Given the description of an element on the screen output the (x, y) to click on. 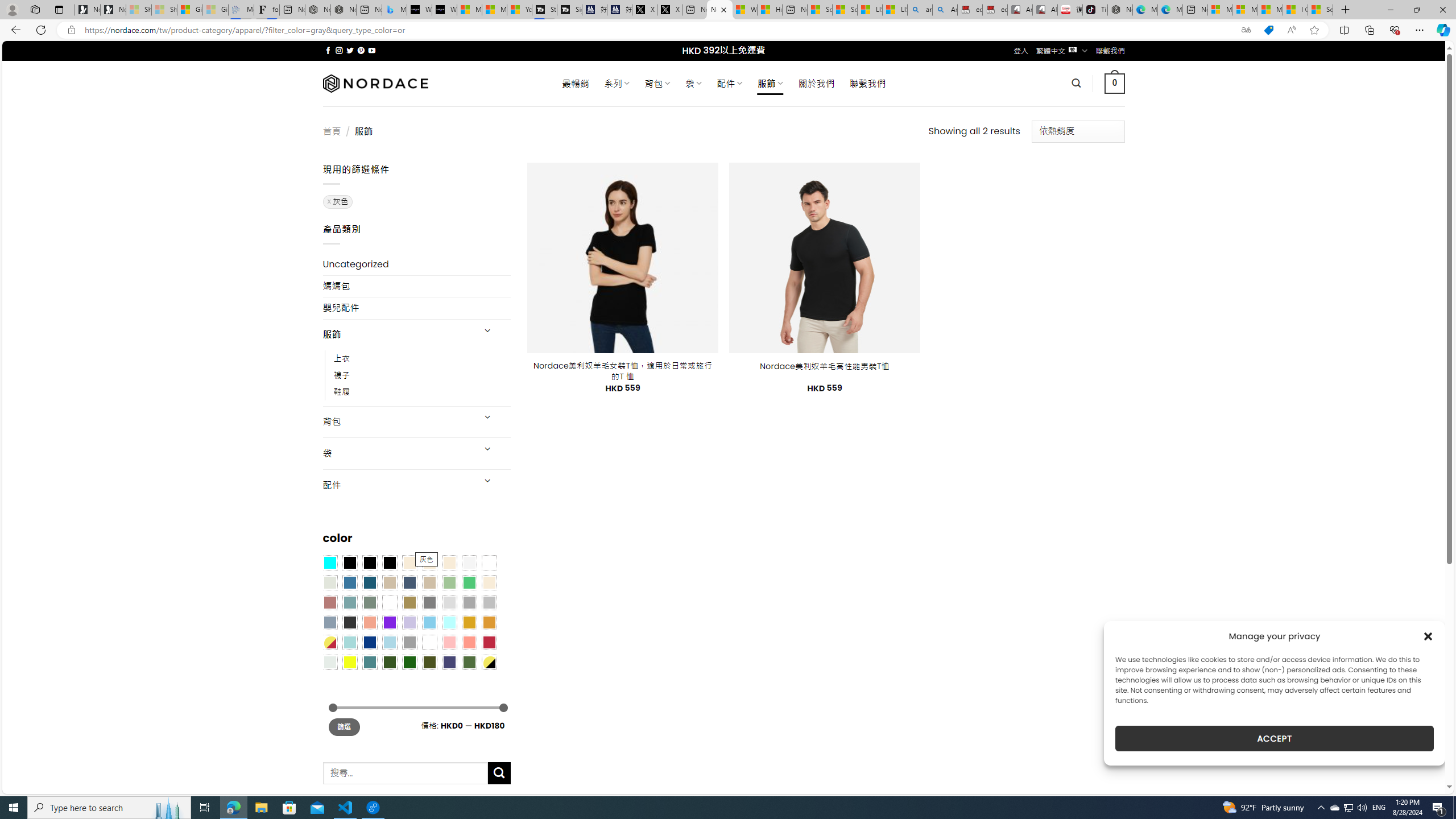
What's the best AI voice generator? - voice.ai (443, 9)
Follow on Instagram (338, 50)
I Gained 20 Pounds of Muscle in 30 Days! | Watch (1295, 9)
